Given the description of an element on the screen output the (x, y) to click on. 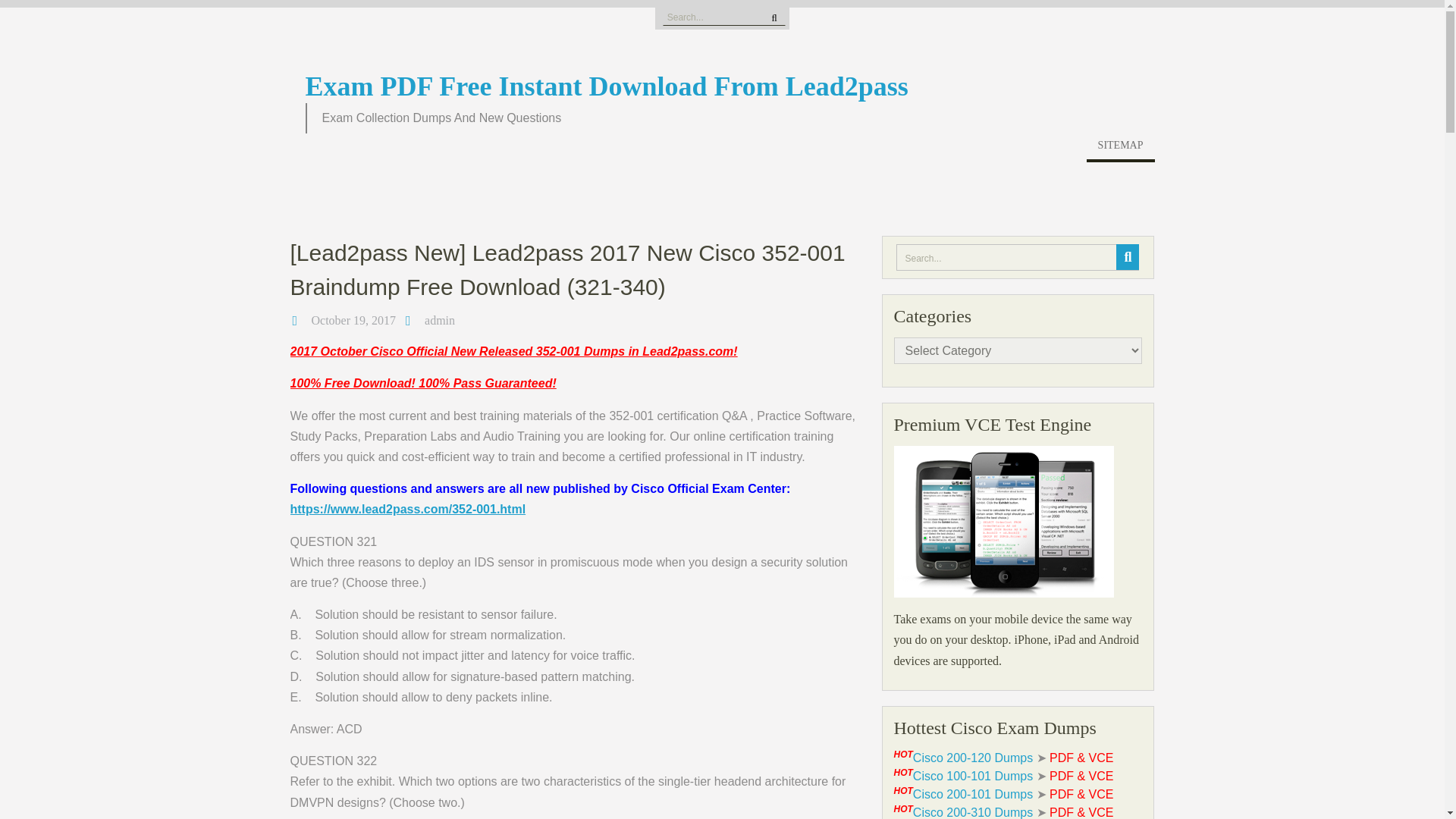
Cisco 200-310 Dumps (972, 812)
admin (439, 319)
Cisco 100-101 Dumps (972, 775)
SITEMAP (1120, 148)
Exam PDF Free Instant Download From Lead2pass (605, 86)
Cisco 200-120 Dumps (972, 757)
October 19, 2017 (353, 319)
Cisco 200-101 Dumps (972, 793)
